Given the description of an element on the screen output the (x, y) to click on. 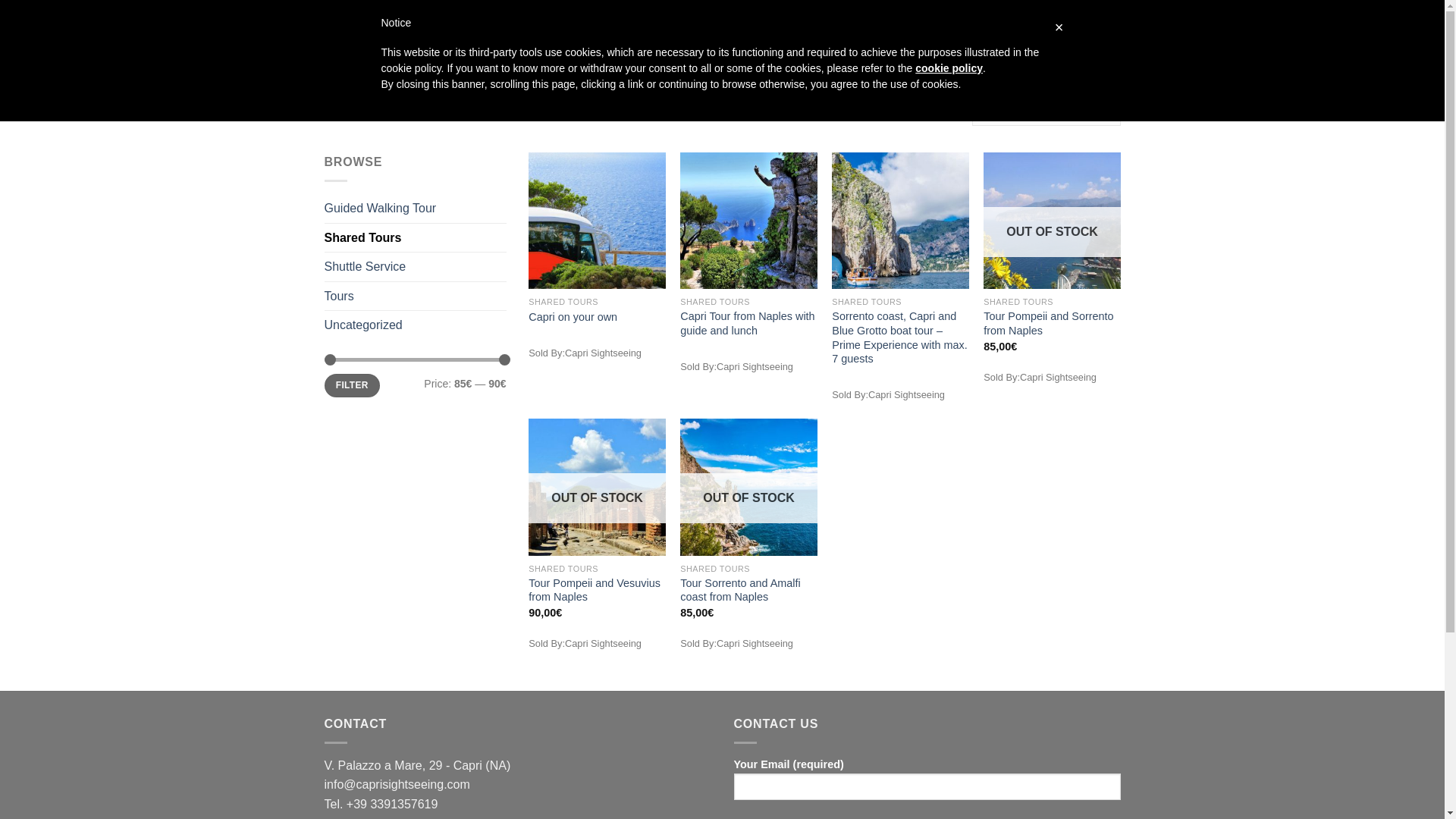
Capri Tour from Naples with guide and lunch (747, 323)
Shared Tours (415, 237)
Tours (415, 296)
Uncategorized (415, 325)
CONTACT (864, 38)
Capri Sightseeing - Capri Sightseeing (400, 38)
SHARED TOURS (653, 38)
Guided Walking Tour (415, 208)
HOME (345, 110)
Capri on your own (572, 317)
Shuttle Service (415, 266)
LUXURY SERVICE (768, 38)
FILTER (352, 385)
LOGIN (984, 38)
